Given the description of an element on the screen output the (x, y) to click on. 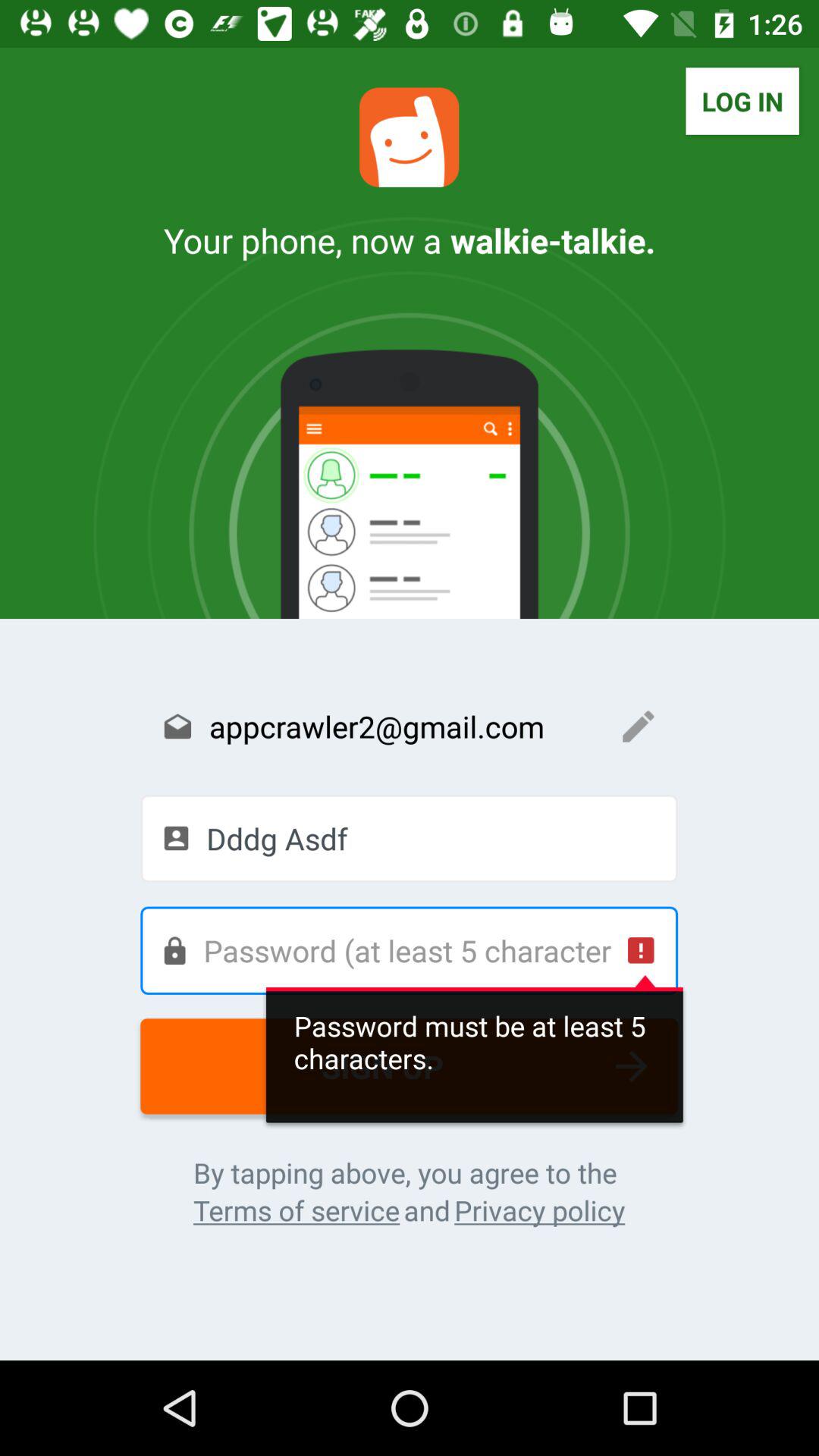
turn on the item below by tapping above item (539, 1210)
